Given the description of an element on the screen output the (x, y) to click on. 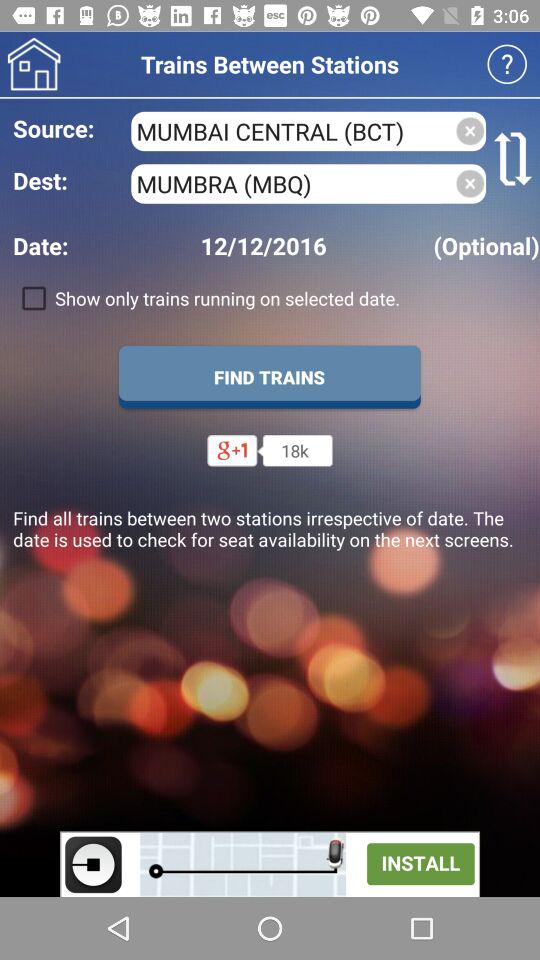
sponsored content (270, 864)
